Given the description of an element on the screen output the (x, y) to click on. 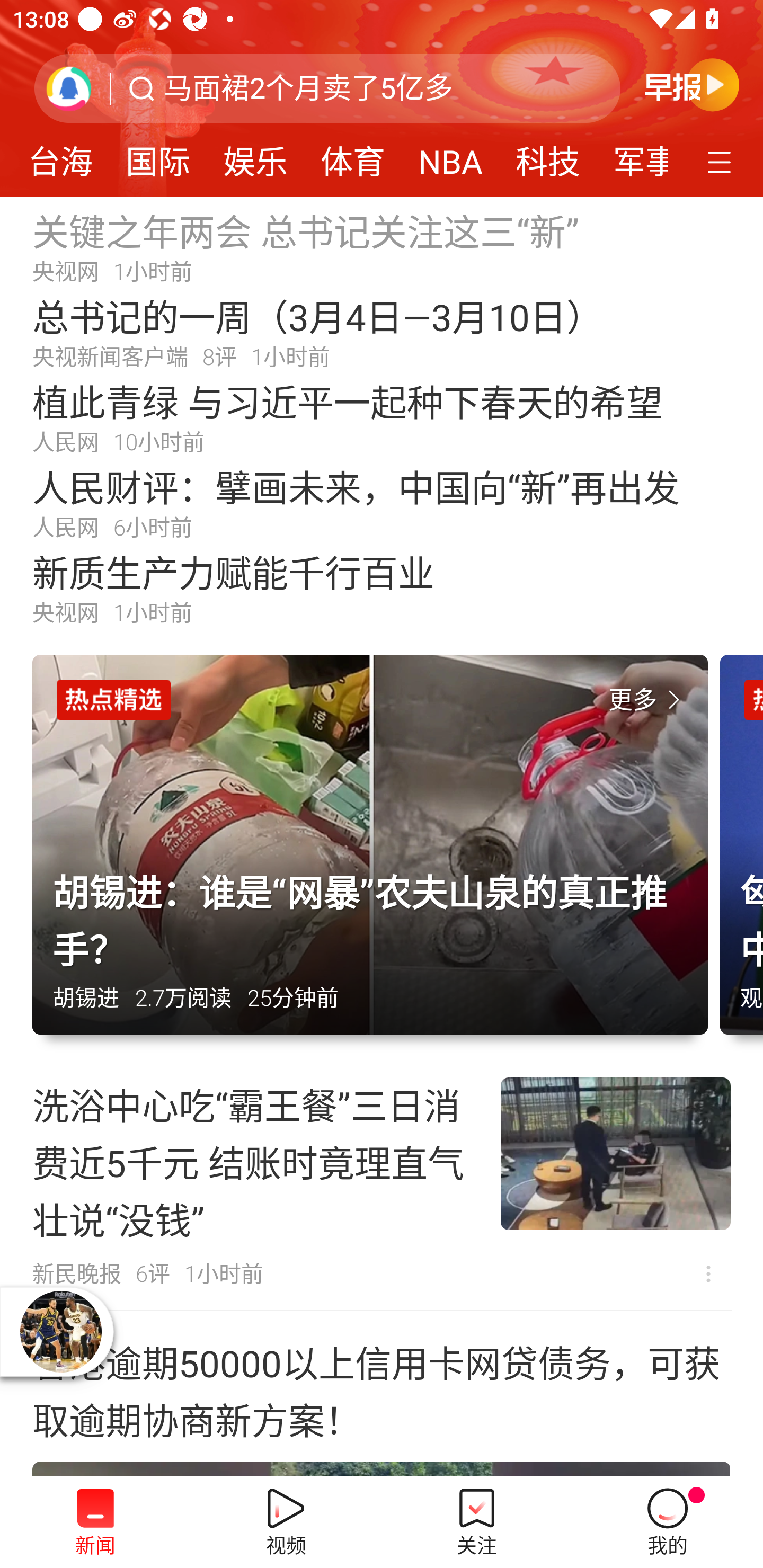
早晚报 (691, 84)
刷新 (68, 88)
马面裙2个月卖了5亿多 (308, 88)
台海 (62, 155)
国际 (157, 155)
娱乐 (255, 155)
体育 (352, 155)
NBA (450, 155)
科技 (547, 155)
军事 (631, 155)
 定制频道 (721, 160)
关键之年两会 总书记关注这三“新” 央视网 1小时前 (381, 245)
总书记的一周（3月4日—3月10日） 央视新闻客户端 8评 1小时前 (381, 331)
植此青绿 与习近平一起种下春天的希望 人民网 10小时前 (381, 416)
人民财评：擘画未来，中国向“新”再出发 人民网 6小时前 (381, 502)
新质生产力赋能千行百业 央视网 1小时前 (381, 587)
更多  胡锡进：谁是“网暴”农夫山泉的真正推手？ 胡锡进   2.7万阅读   25分钟前 (376, 853)
更多  (648, 699)
 不感兴趣 (707, 1273)
播放器 (60, 1331)
香港逾期50000以上信用卡网贷债务，可获取逾期协商新方案！ (381, 1393)
